Given the description of an element on the screen output the (x, y) to click on. 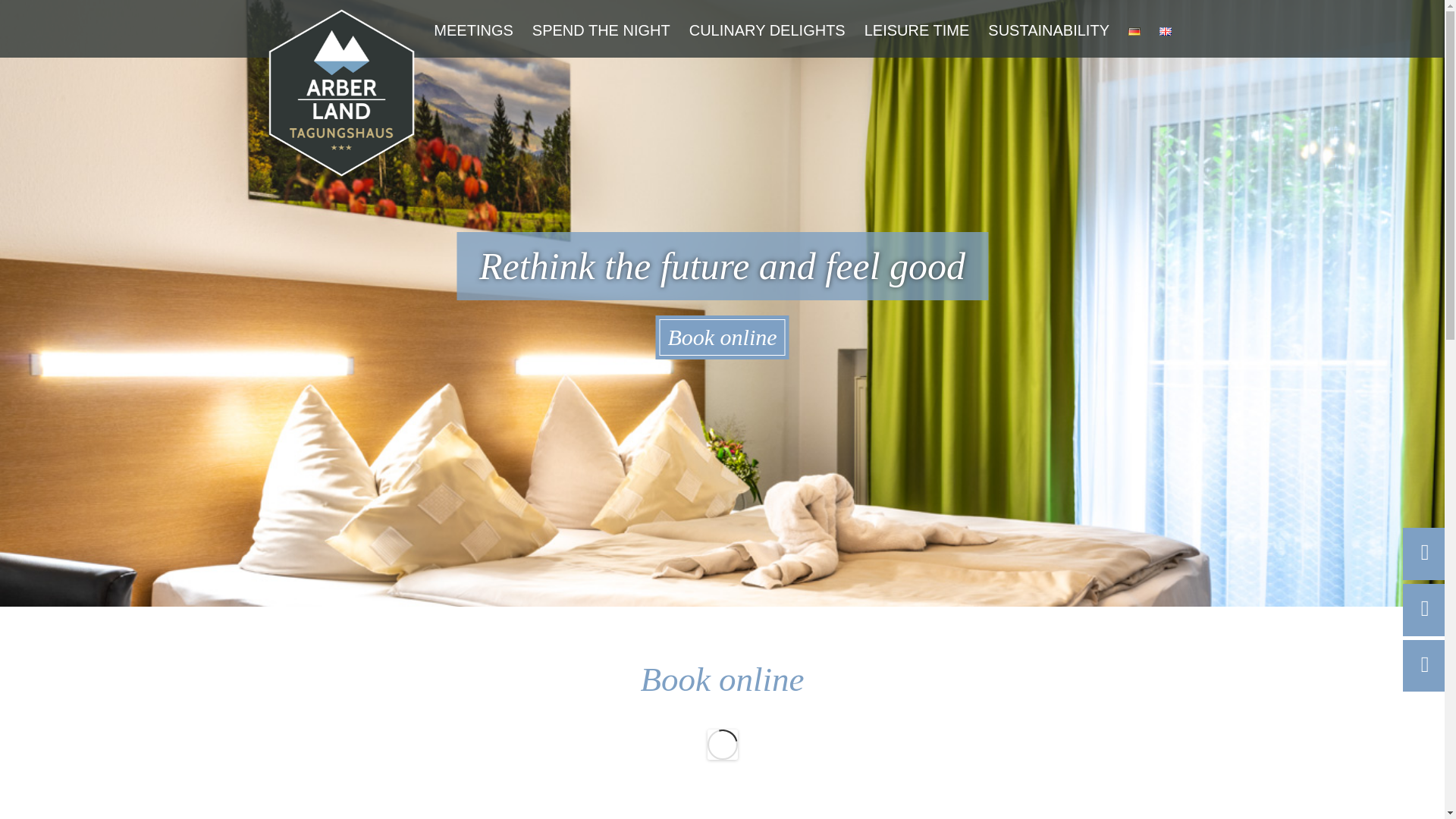
SUSTAINABILITY (1047, 29)
Book online (721, 337)
MEETINGS (472, 29)
EVERYTHING ABOUT MEETINGS (502, 78)
LEISURE TIME (916, 29)
CULINARY DELIGHTS (767, 29)
SPEND THE NIGHT (601, 29)
